Given the description of an element on the screen output the (x, y) to click on. 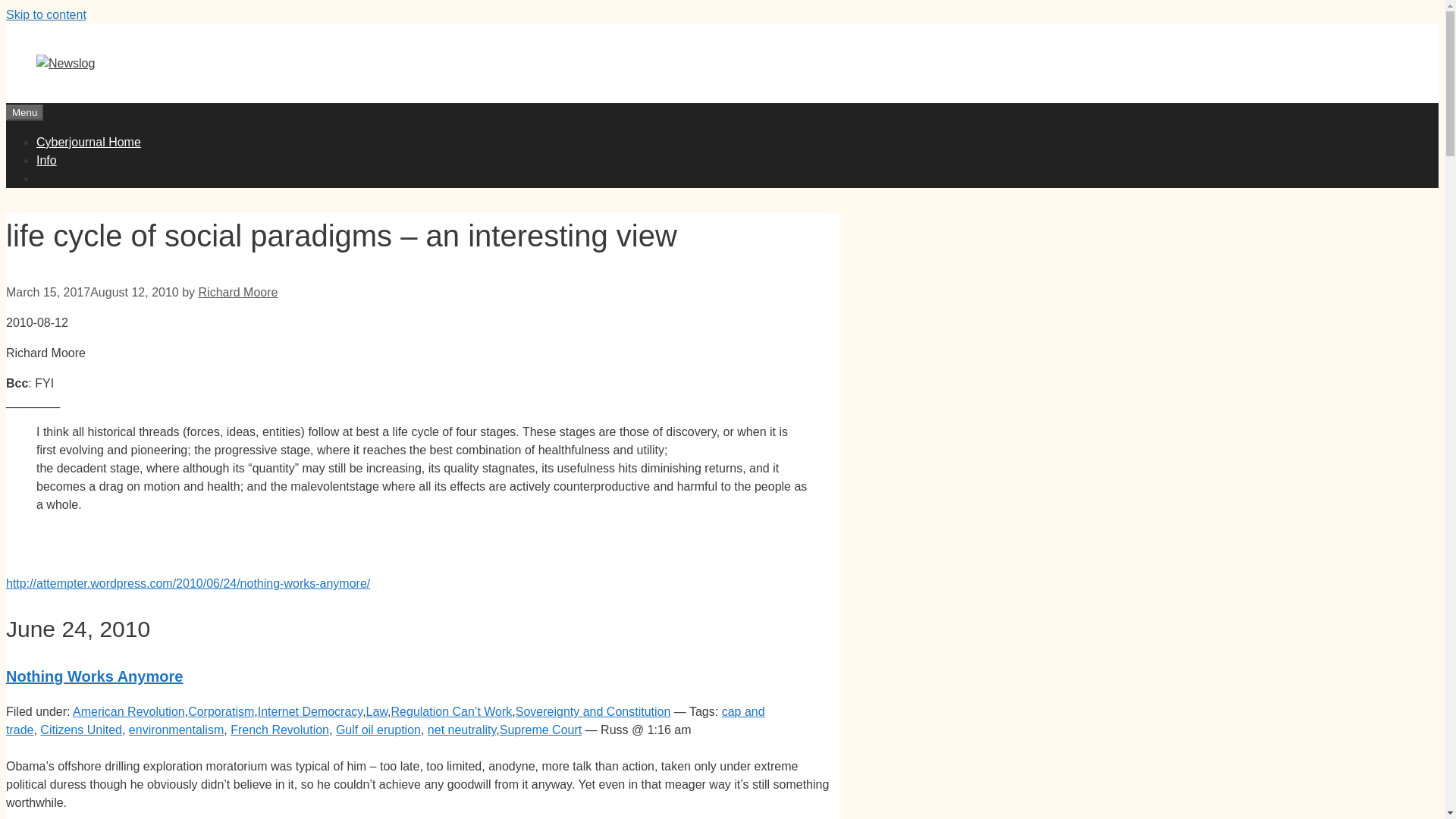
Menu (24, 112)
Sovereignty and Constitution (593, 711)
Cyberjournal Home (88, 141)
Internet Democracy (309, 711)
Skip to content (45, 14)
American Revolution (128, 711)
French Revolution (279, 729)
View all posts by Richard Moore (238, 291)
Law (376, 711)
Citizens United (81, 729)
View all posts in American Revolution (128, 711)
Gulf oil eruption (378, 729)
net neutrality (462, 729)
Info (46, 160)
Nothing Works Anymore (94, 676)
